Given the description of an element on the screen output the (x, y) to click on. 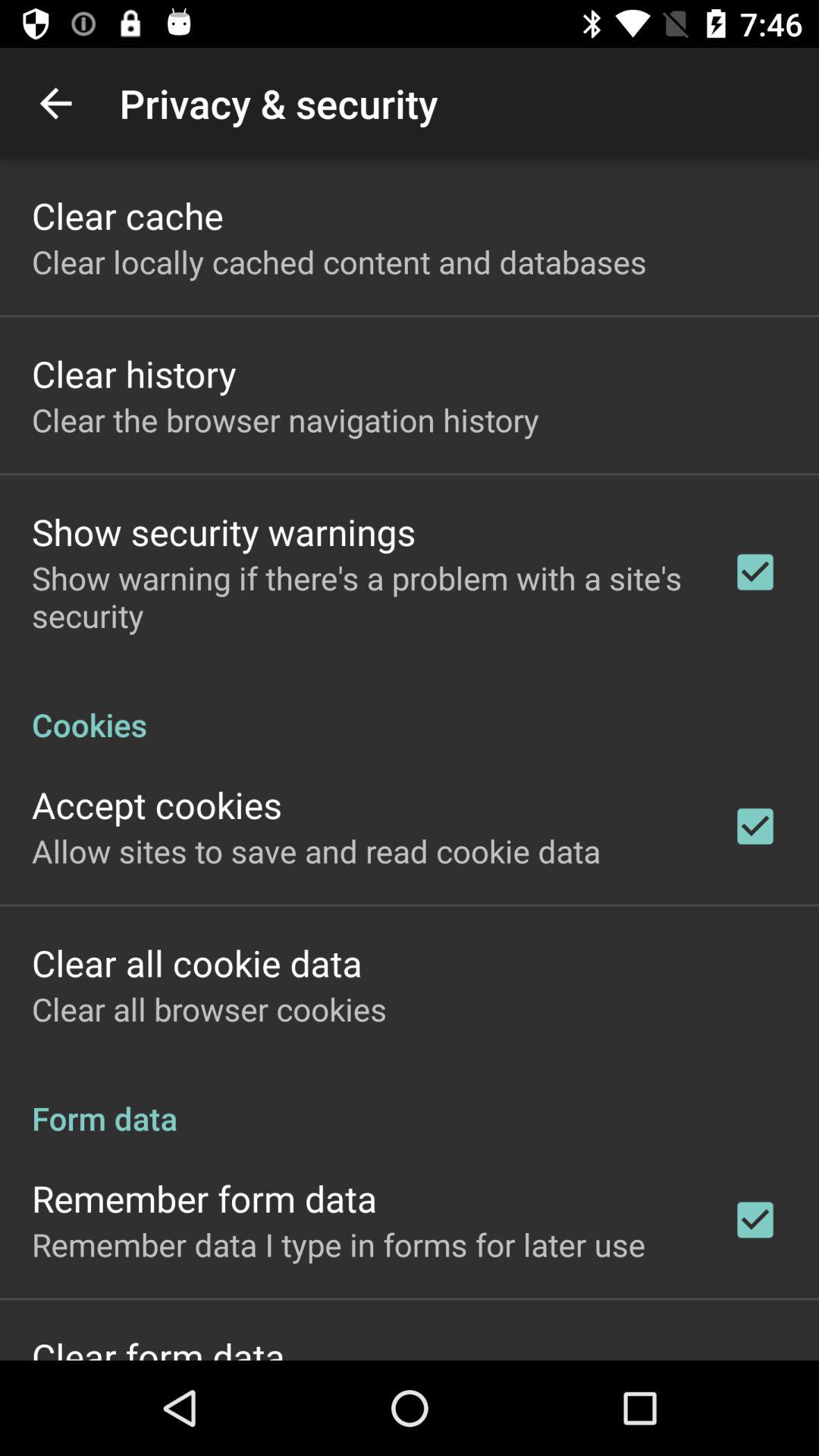
swipe until accept cookies icon (156, 804)
